Given the description of an element on the screen output the (x, y) to click on. 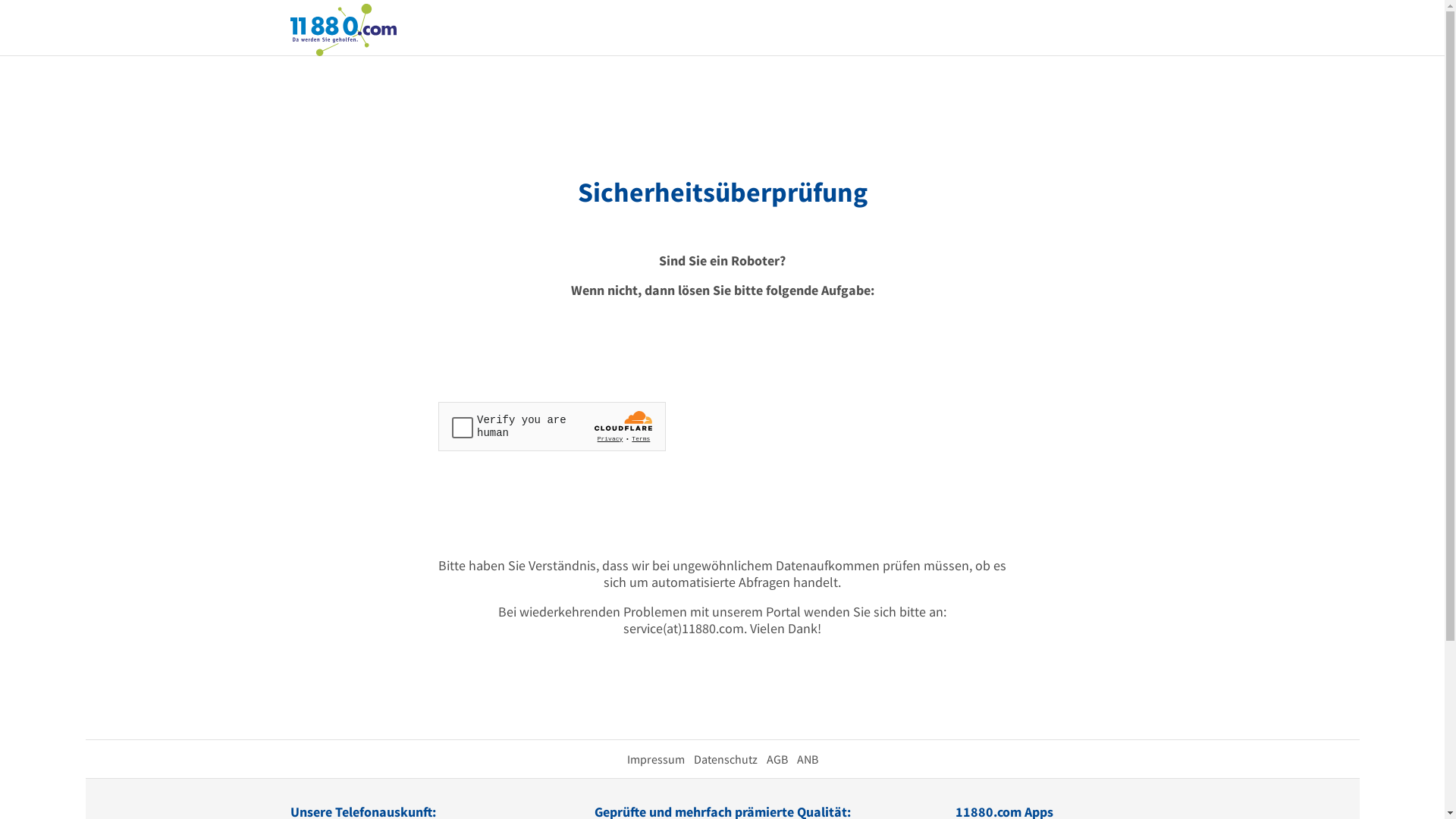
AGB Element type: text (776, 758)
Widget containing a Cloudflare security challenge Element type: hover (551, 426)
ANB Element type: text (806, 758)
Impressum Element type: text (655, 758)
Datenschutz Element type: text (724, 758)
11880.com Element type: hover (342, 28)
